Given the description of an element on the screen output the (x, y) to click on. 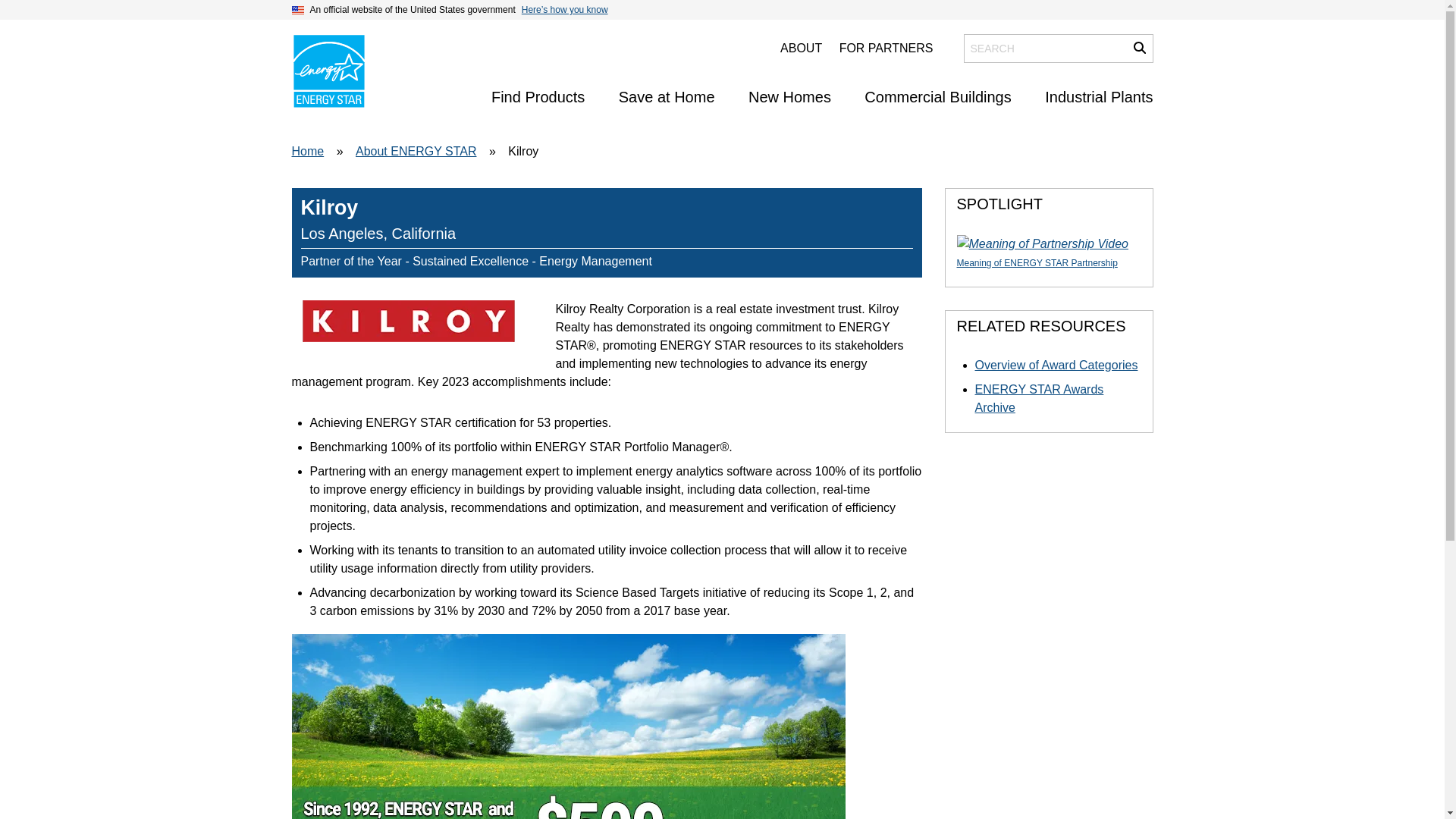
Industrial Plants (1099, 96)
Commercial Buildings (937, 96)
New Homes (789, 96)
Home (328, 70)
Submit Search (1139, 47)
Find Products (538, 96)
FOR PARTNERS (886, 47)
Skip to main content (721, 14)
ABOUT (801, 47)
Save at Home (666, 96)
ENERGY STAR (328, 70)
